Given the description of an element on the screen output the (x, y) to click on. 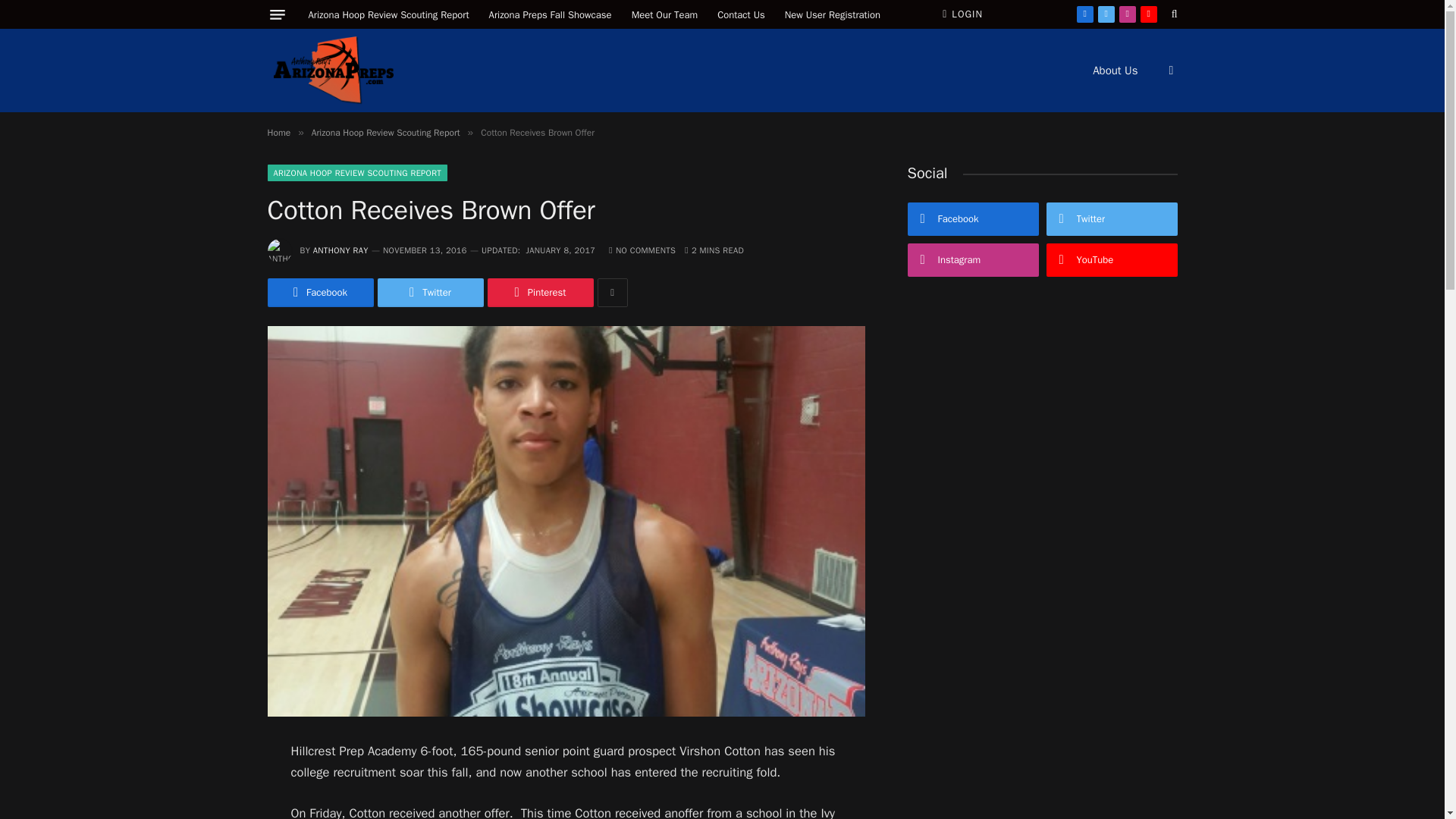
Share on Pinterest (539, 292)
Posts by Anthony Ray (340, 249)
Twitter (1106, 13)
Facebook (1085, 13)
Facebook (319, 292)
Arizona Preps Fall Showcase (550, 14)
ARIZONA HOOP REVIEW SCOUTING REPORT (356, 172)
Arizona Hoop Review Scouting Report (388, 14)
Share on Facebook (319, 292)
ANTHONY RAY (340, 249)
